Given the description of an element on the screen output the (x, y) to click on. 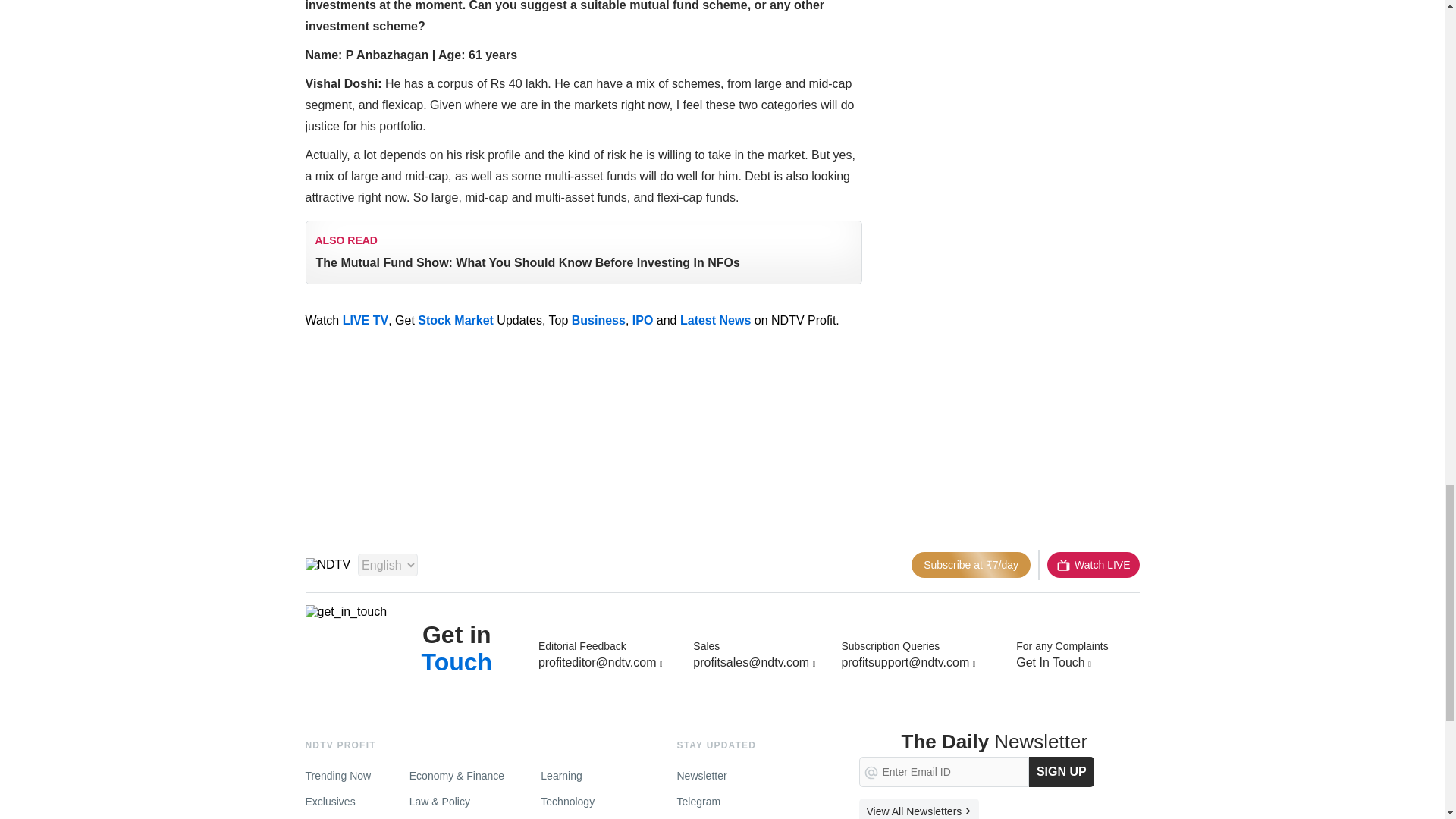
Live TV (1092, 565)
